Given the description of an element on the screen output the (x, y) to click on. 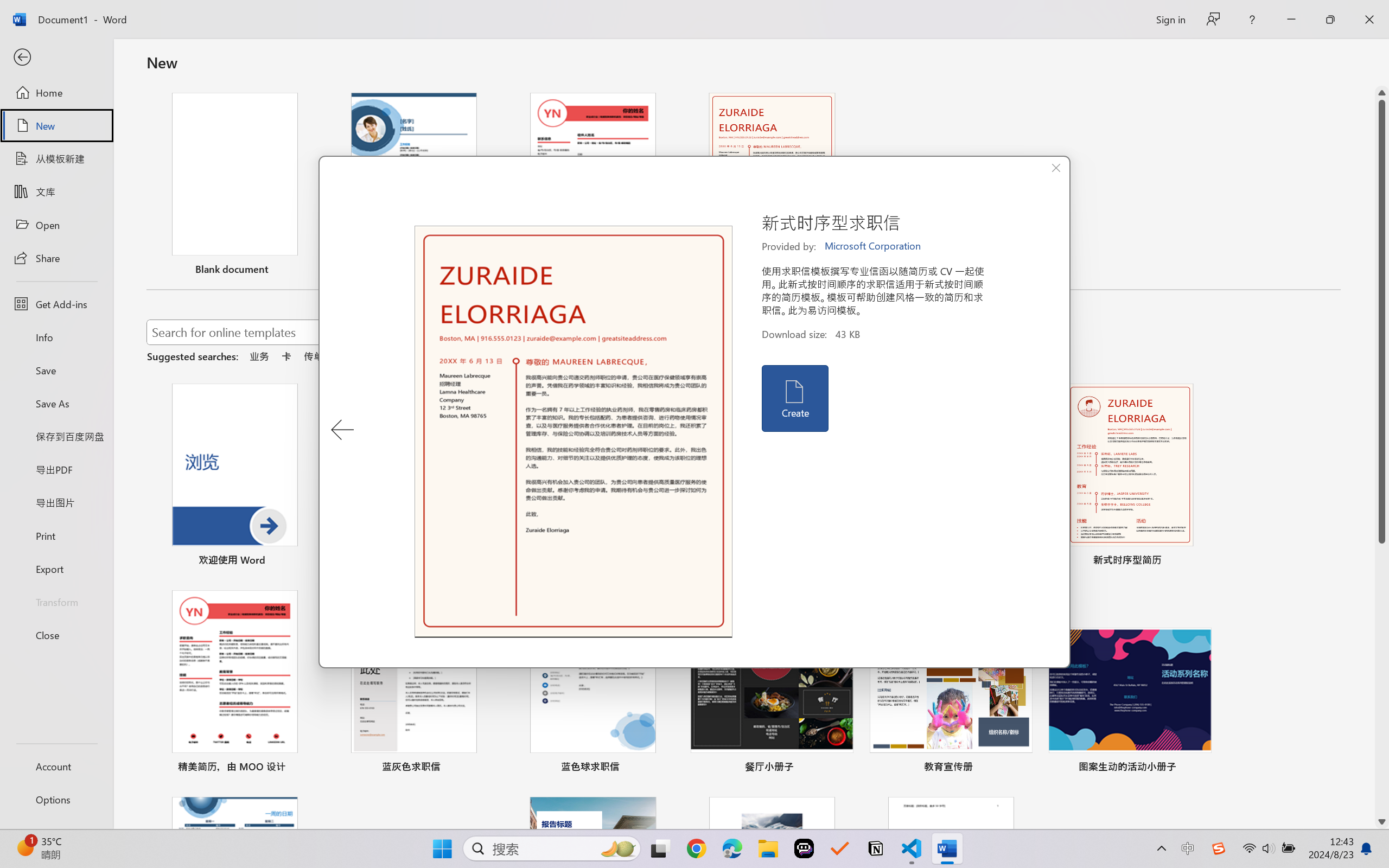
Preview (573, 431)
Info (56, 337)
Export (56, 568)
